Given the description of an element on the screen output the (x, y) to click on. 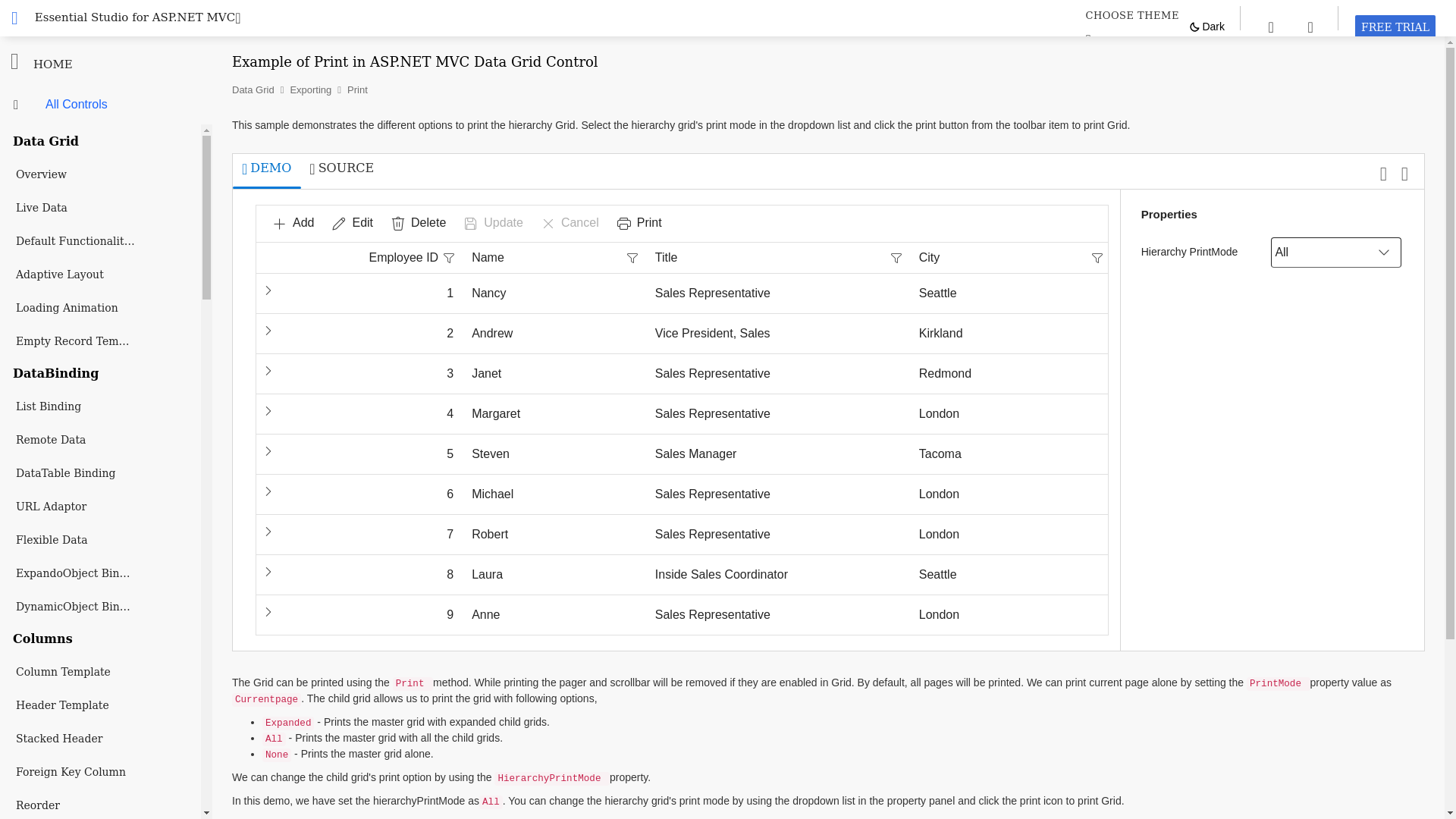
Toggle sample search (1270, 26)
All (1321, 252)
Edit (352, 223)
Delete (417, 223)
Print (639, 223)
Cancel (570, 223)
Update (493, 223)
Update (493, 223)
FREE TRIAL (552, 778)
